Given the description of an element on the screen output the (x, y) to click on. 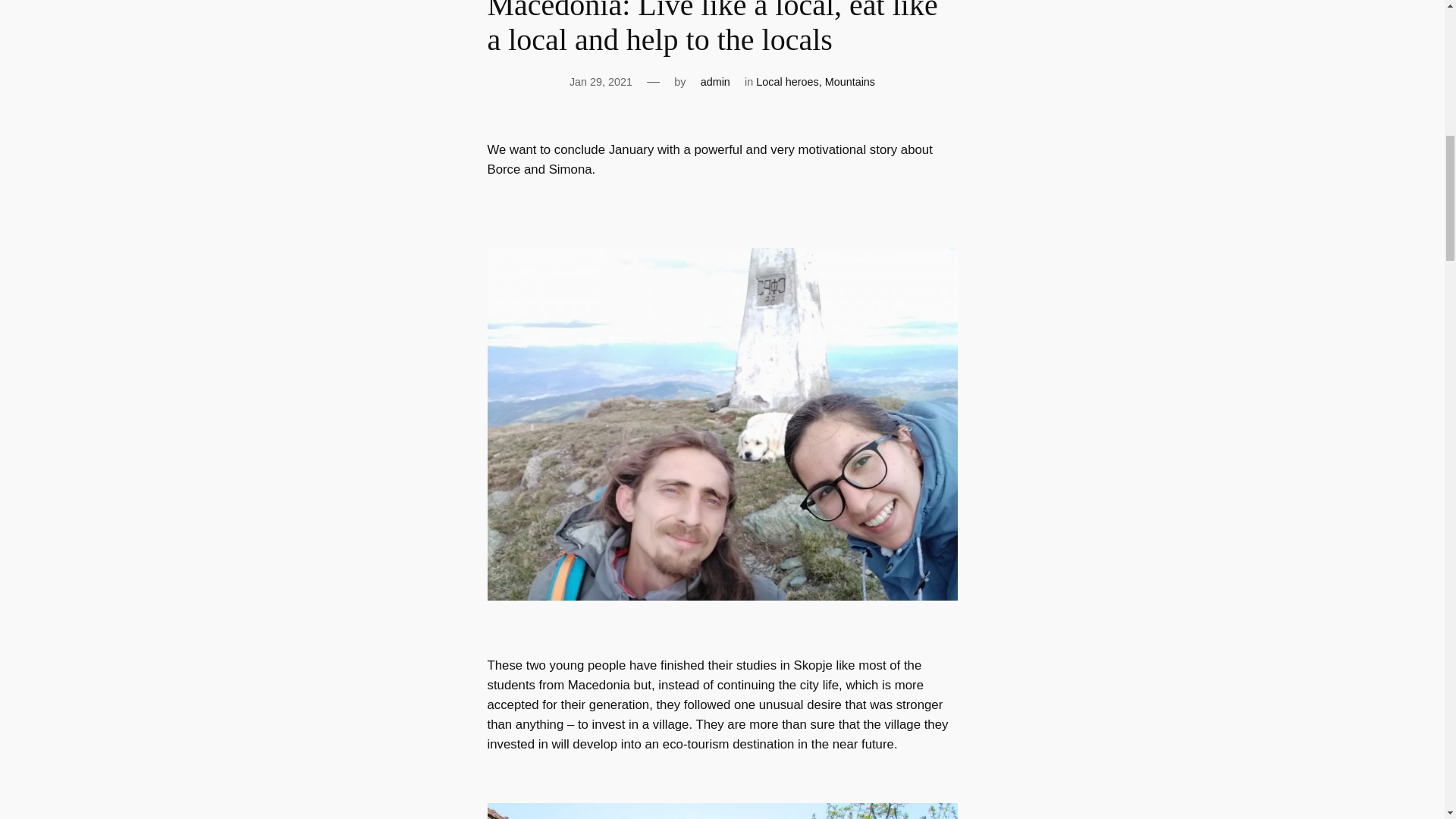
Jan 29, 2021 (600, 81)
admin (715, 81)
Local heroes (786, 81)
Mountains (850, 81)
